Given the description of an element on the screen output the (x, y) to click on. 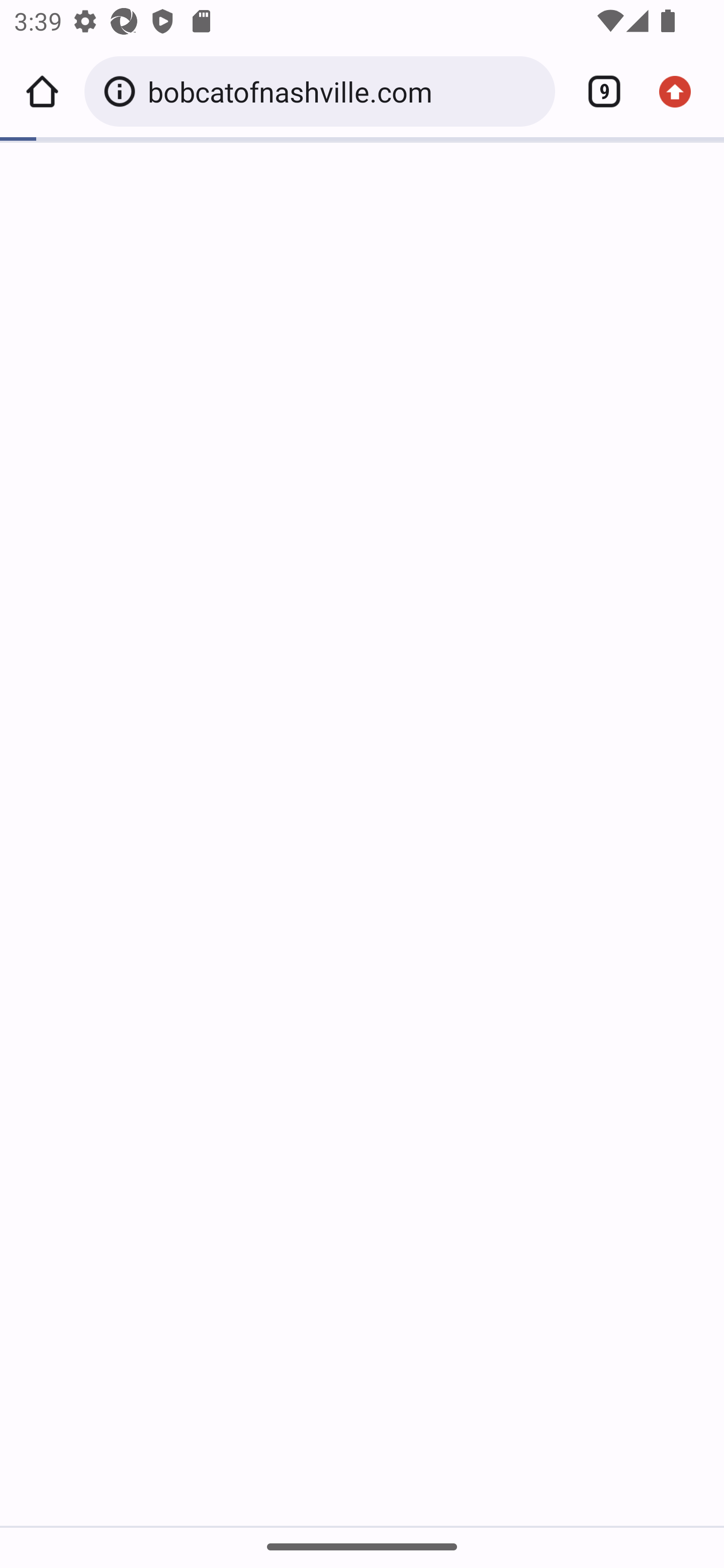
Home (42, 91)
Your connection to this site is not secure (122, 91)
Switch or close tabs (597, 91)
Update available. More options (681, 91)
bobcatofnashville.com (343, 90)
